Given the description of an element on the screen output the (x, y) to click on. 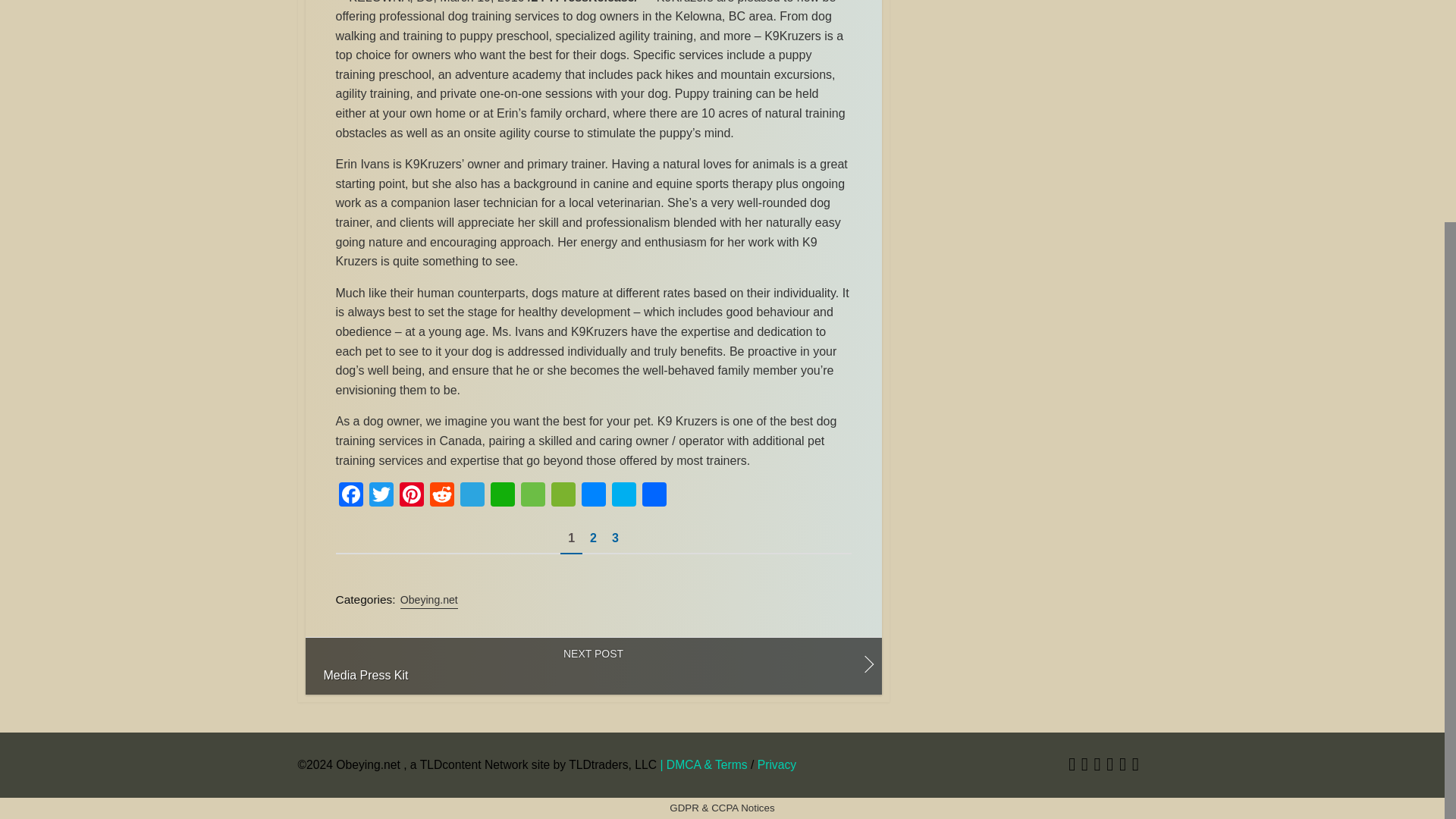
Telegram (471, 496)
Skype (623, 496)
WhatsApp (501, 496)
Twitter (380, 496)
Facebook (349, 496)
Facebook (349, 496)
Pinterest (411, 496)
Pinterest (411, 496)
WhatsApp (501, 496)
WeChat (562, 496)
